Given the description of an element on the screen output the (x, y) to click on. 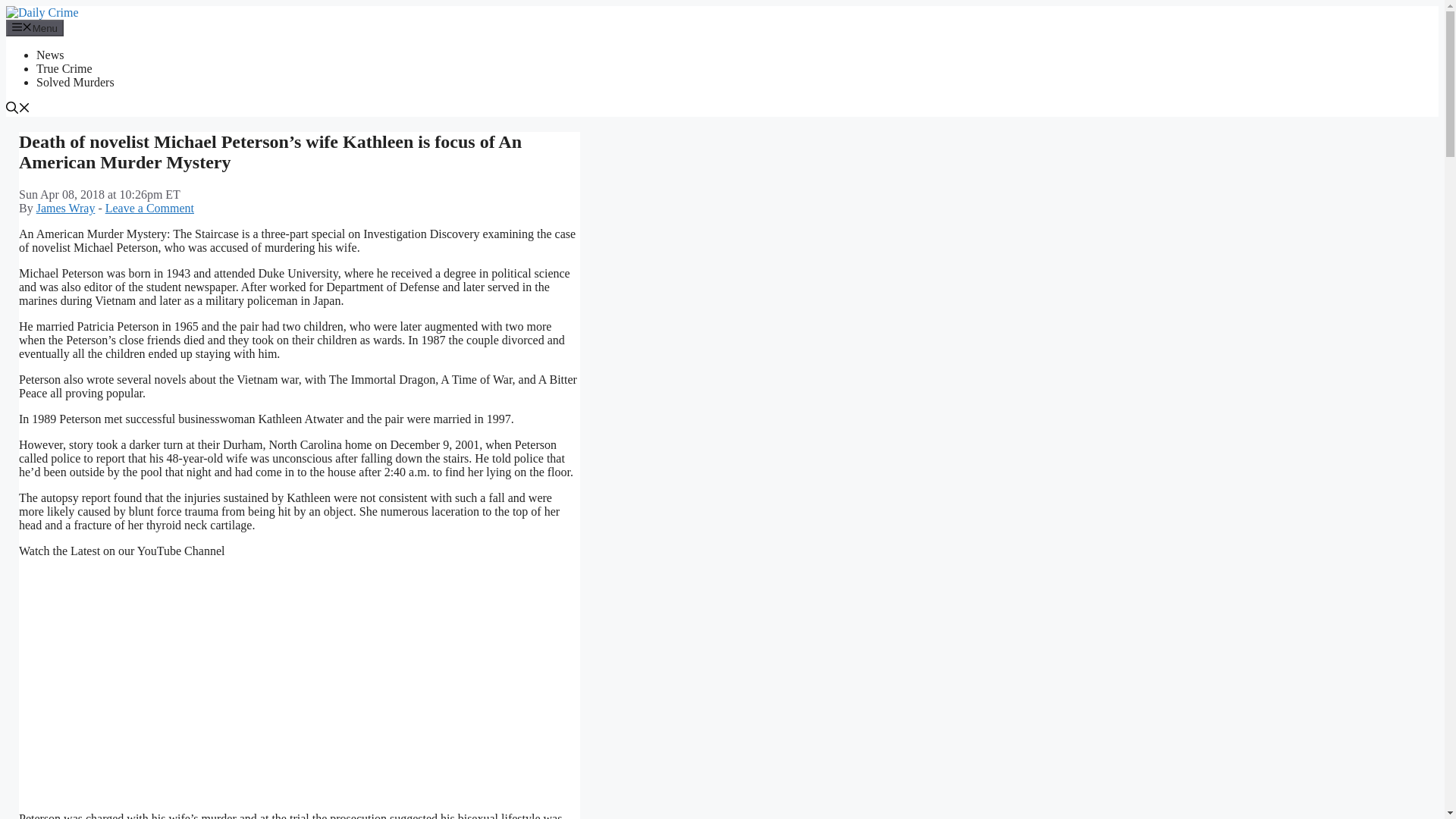
YouTube video player (231, 676)
Daily Crime (41, 11)
James Wray (66, 207)
Daily Crime (41, 12)
View all posts by James Wray (66, 207)
Solved Murders (75, 82)
Leave a Comment (148, 207)
Menu (34, 27)
True Crime (64, 68)
News (50, 54)
